Given the description of an element on the screen output the (x, y) to click on. 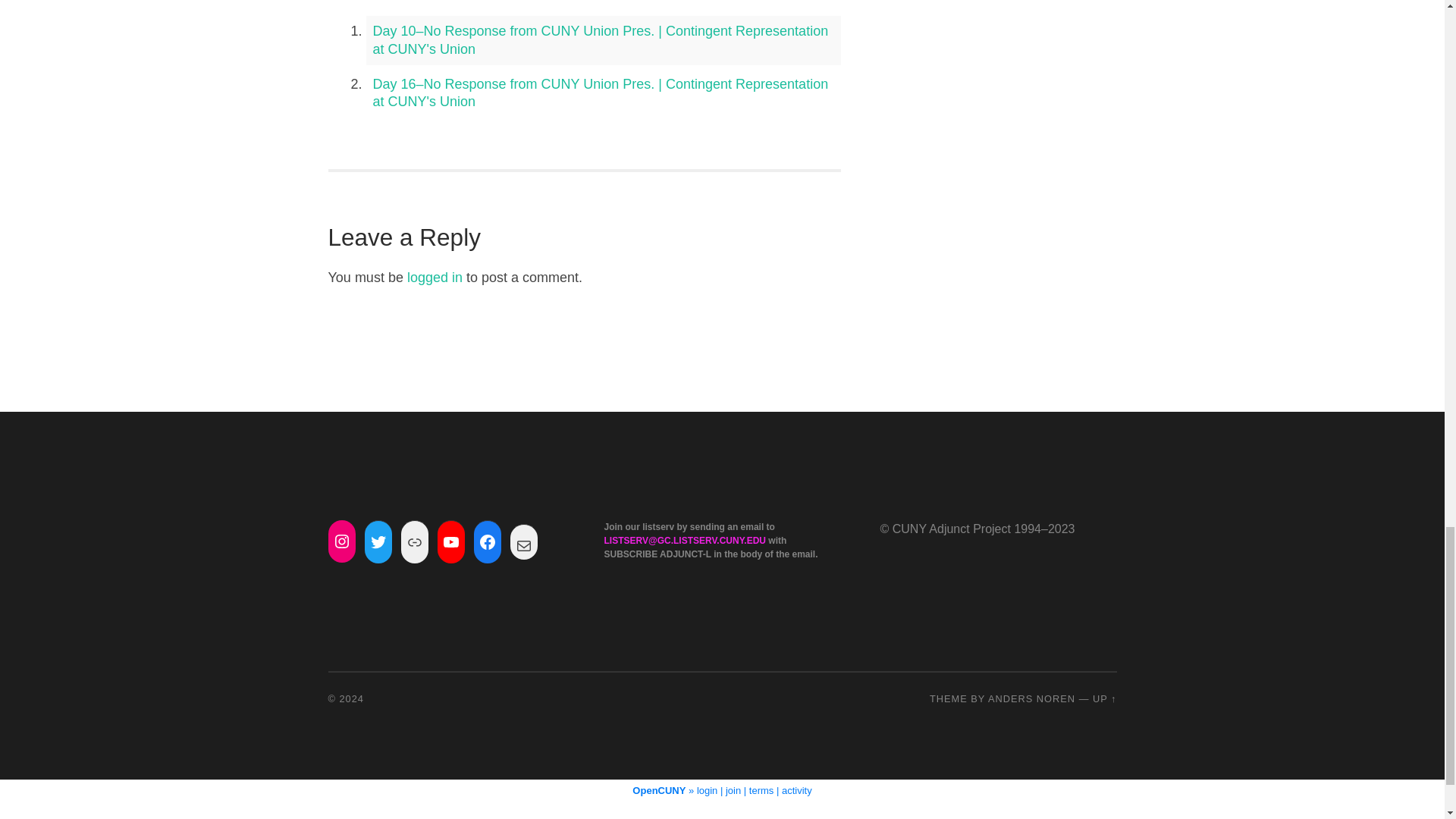
To the top (1104, 698)
